Given the description of an element on the screen output the (x, y) to click on. 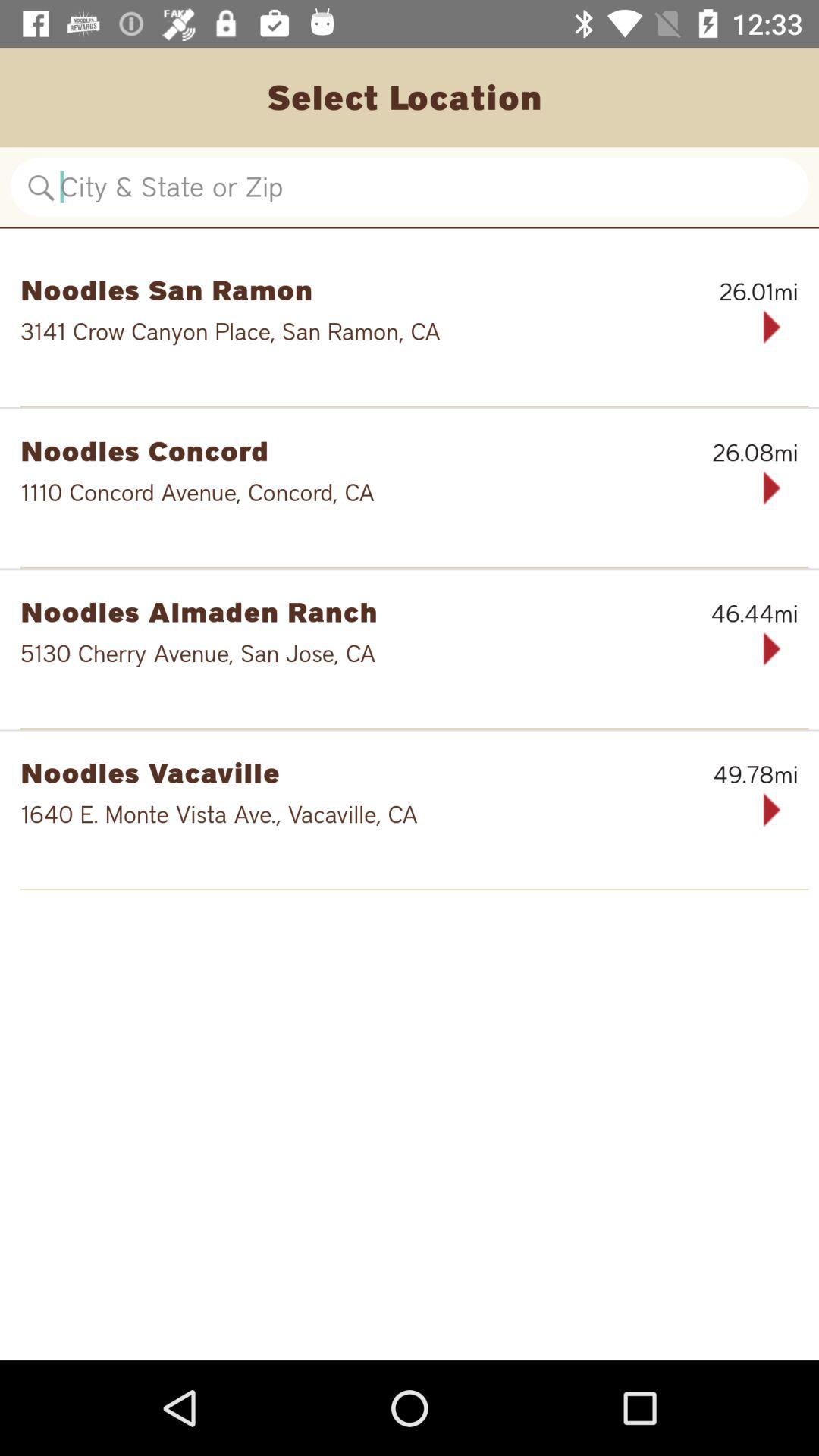
swipe until 46.44mi icon (720, 613)
